Given the description of an element on the screen output the (x, y) to click on. 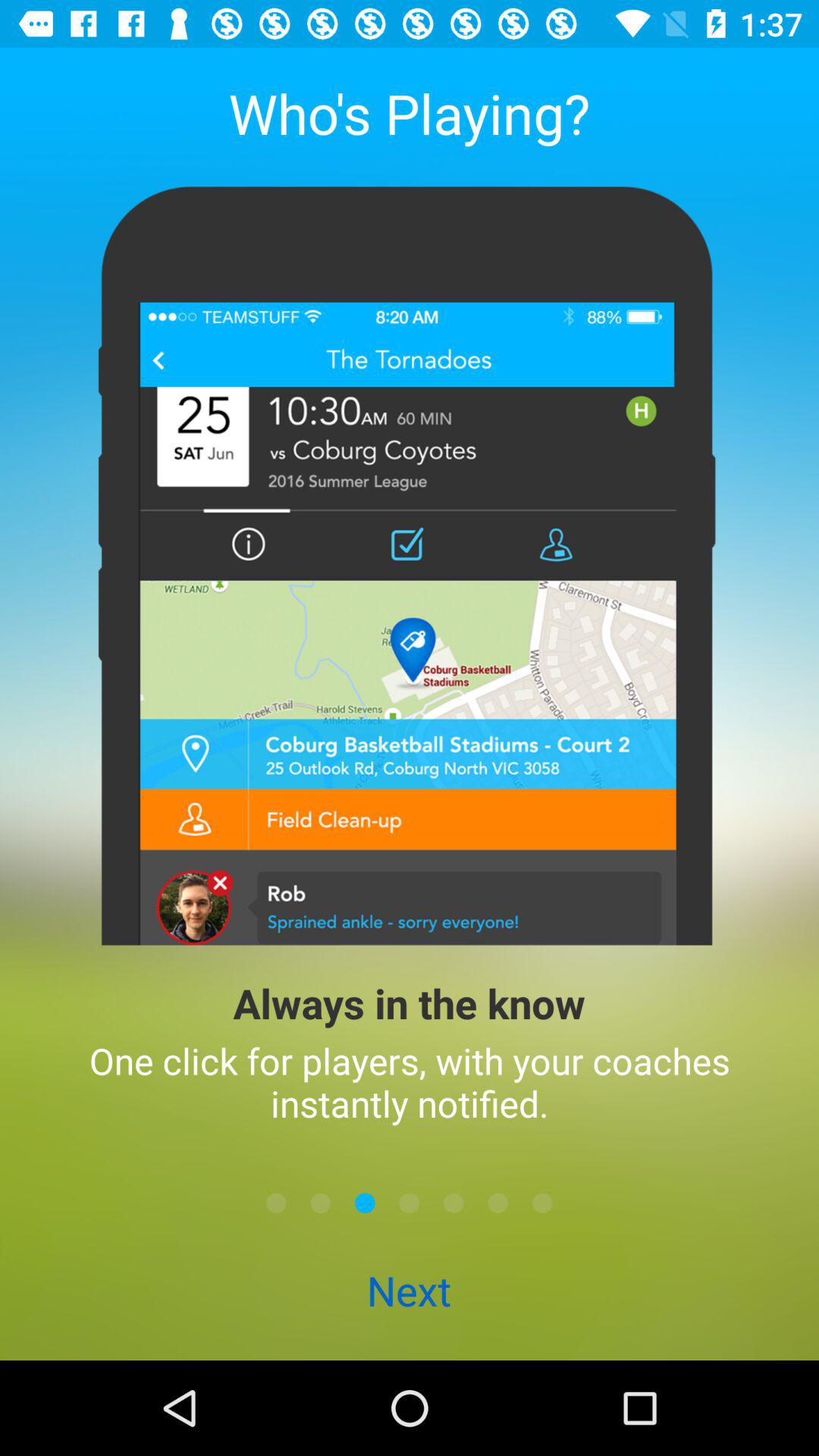
sixth option (498, 1203)
